Given the description of an element on the screen output the (x, y) to click on. 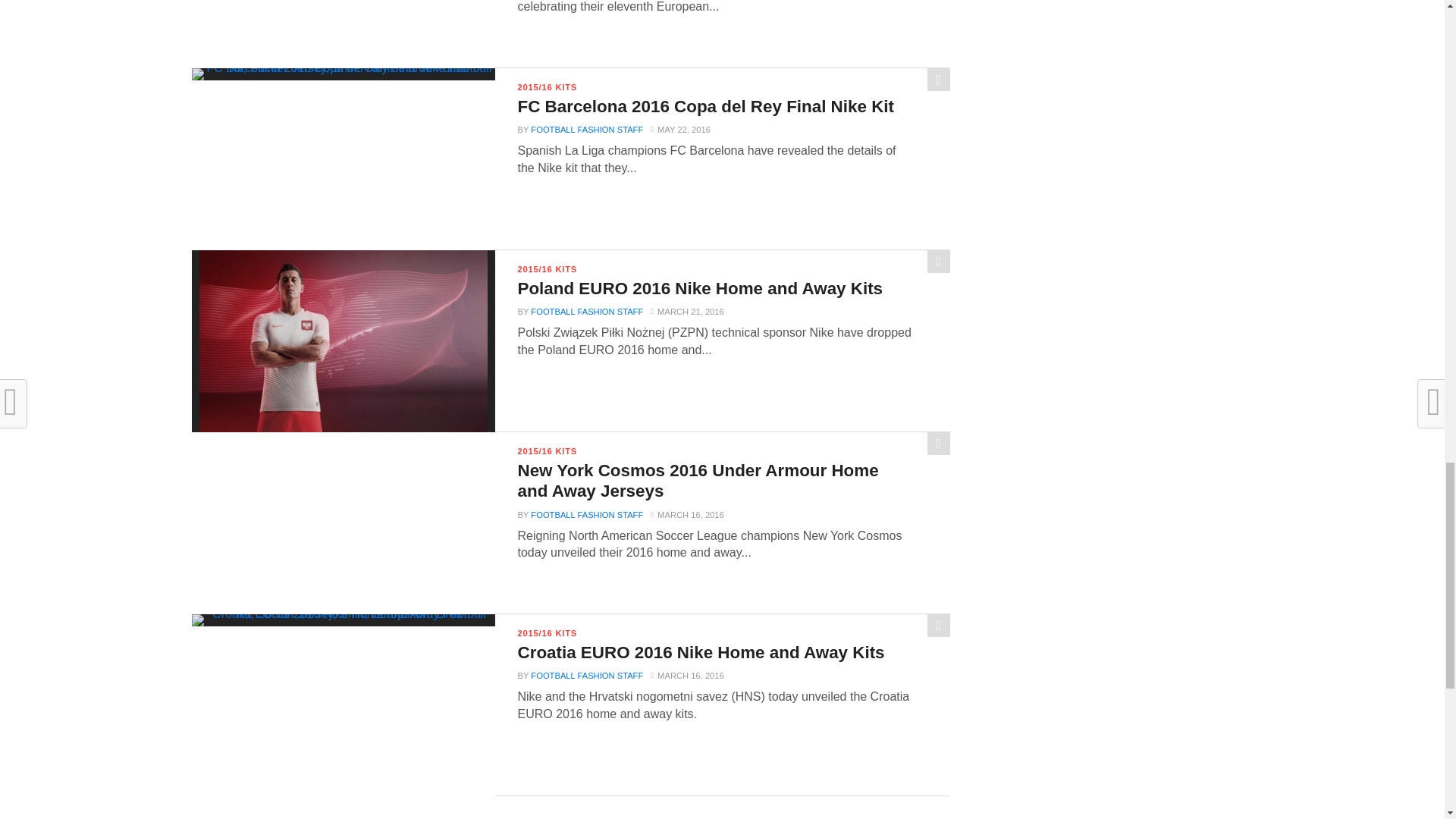
Posts by Football Fashion Staff (587, 129)
